Given the description of an element on the screen output the (x, y) to click on. 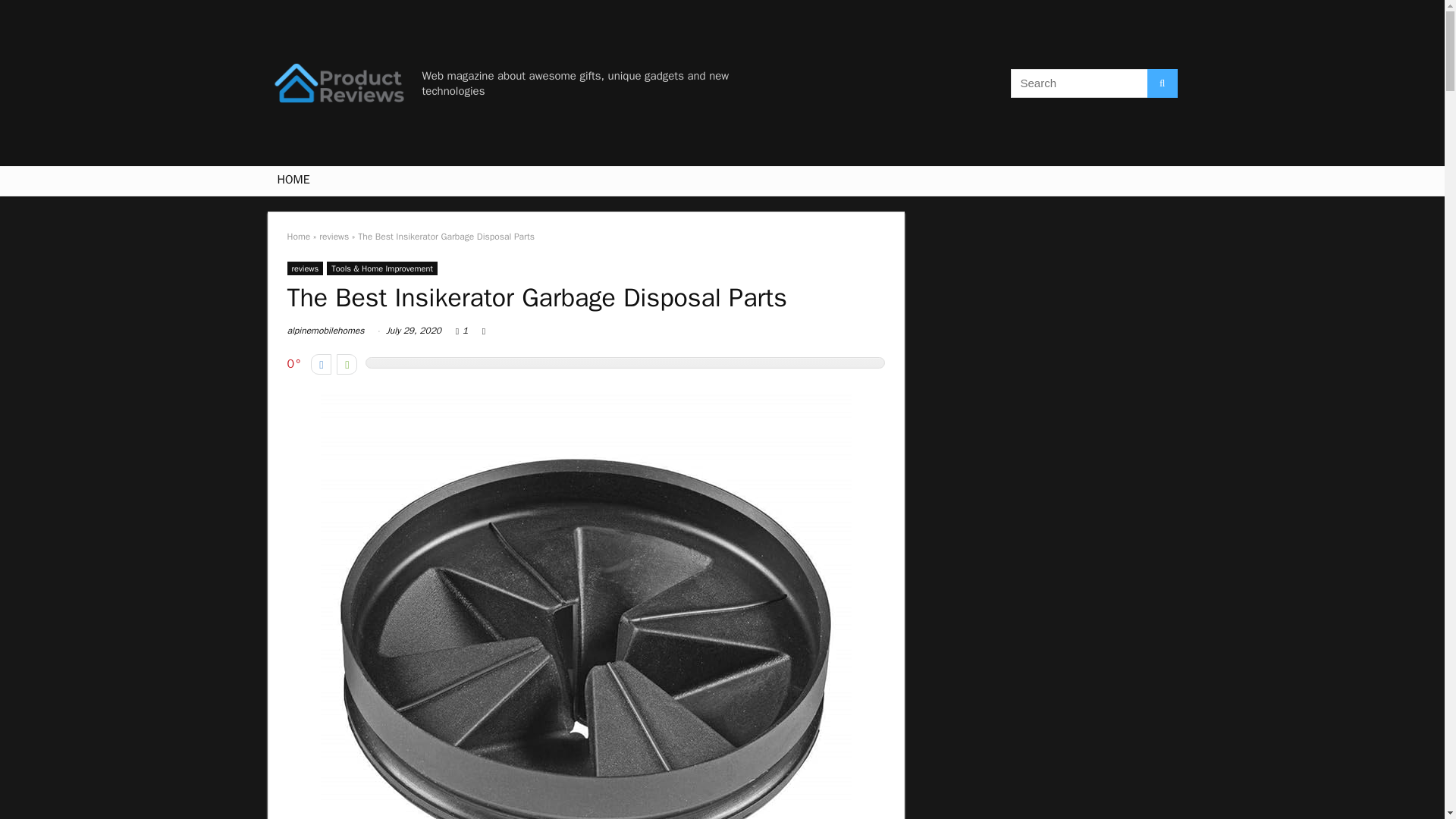
Vote up (346, 363)
View all posts in reviews (304, 268)
Home (298, 236)
Vote down (321, 363)
alpinemobilehomes (325, 330)
reviews (333, 236)
HOME (292, 181)
reviews (304, 268)
